Given the description of an element on the screen output the (x, y) to click on. 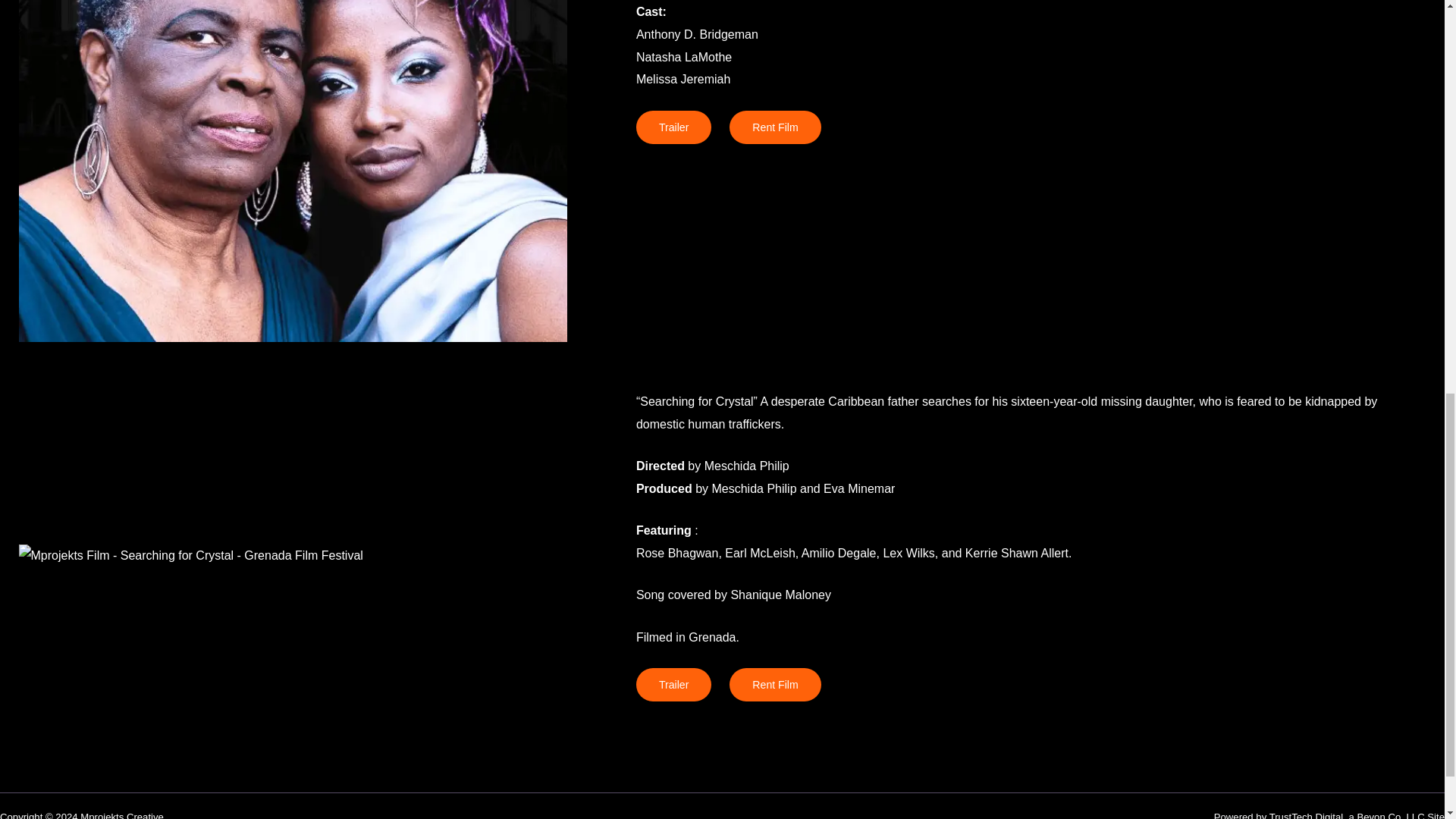
Rent Film (775, 684)
Rent Film (775, 127)
Trailer (673, 684)
Trailer (673, 127)
Bevon Co, LLC (1389, 815)
TrustTech Digital (1305, 815)
